Given the description of an element on the screen output the (x, y) to click on. 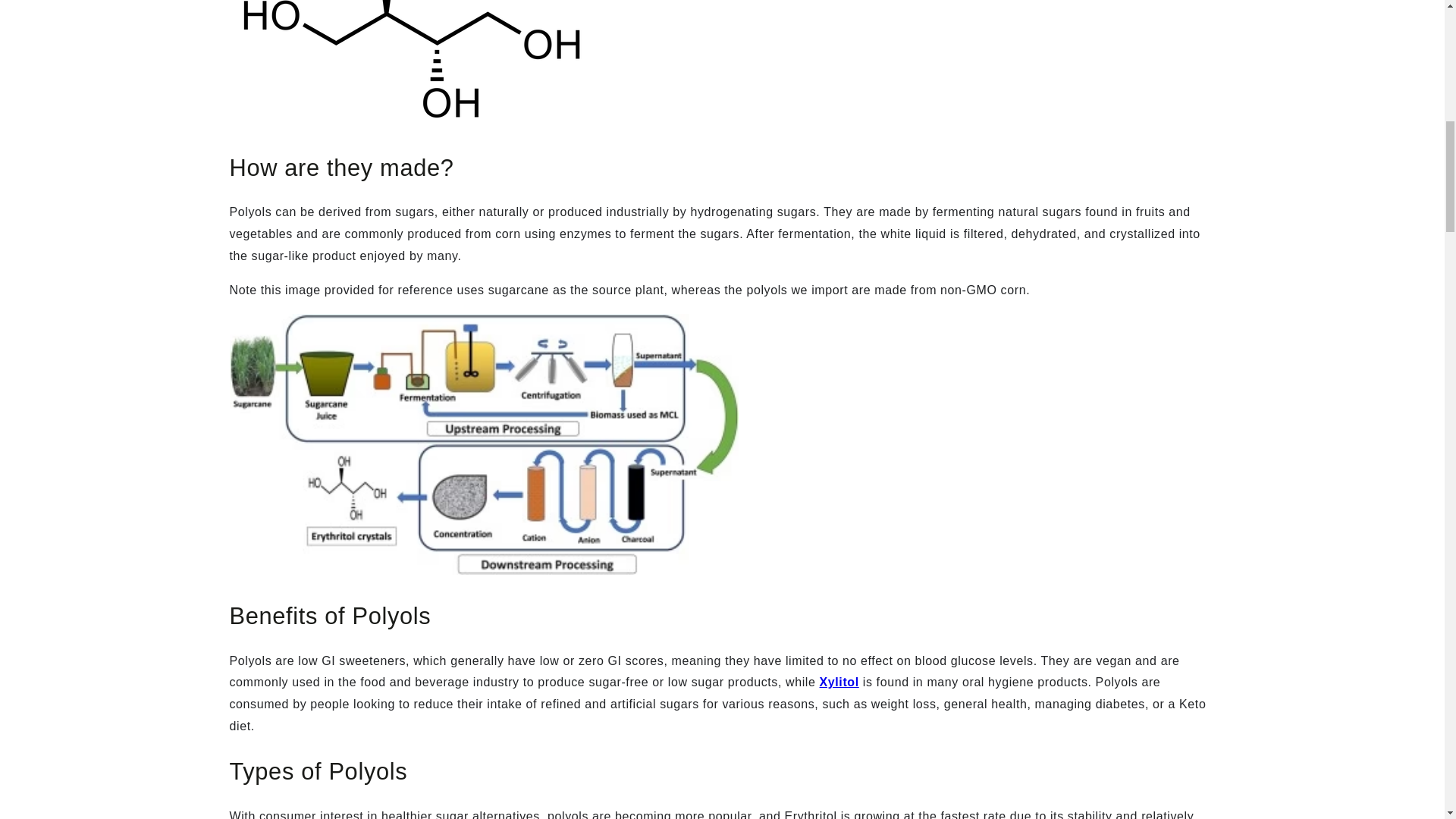
Xylitol (839, 681)
